Given the description of an element on the screen output the (x, y) to click on. 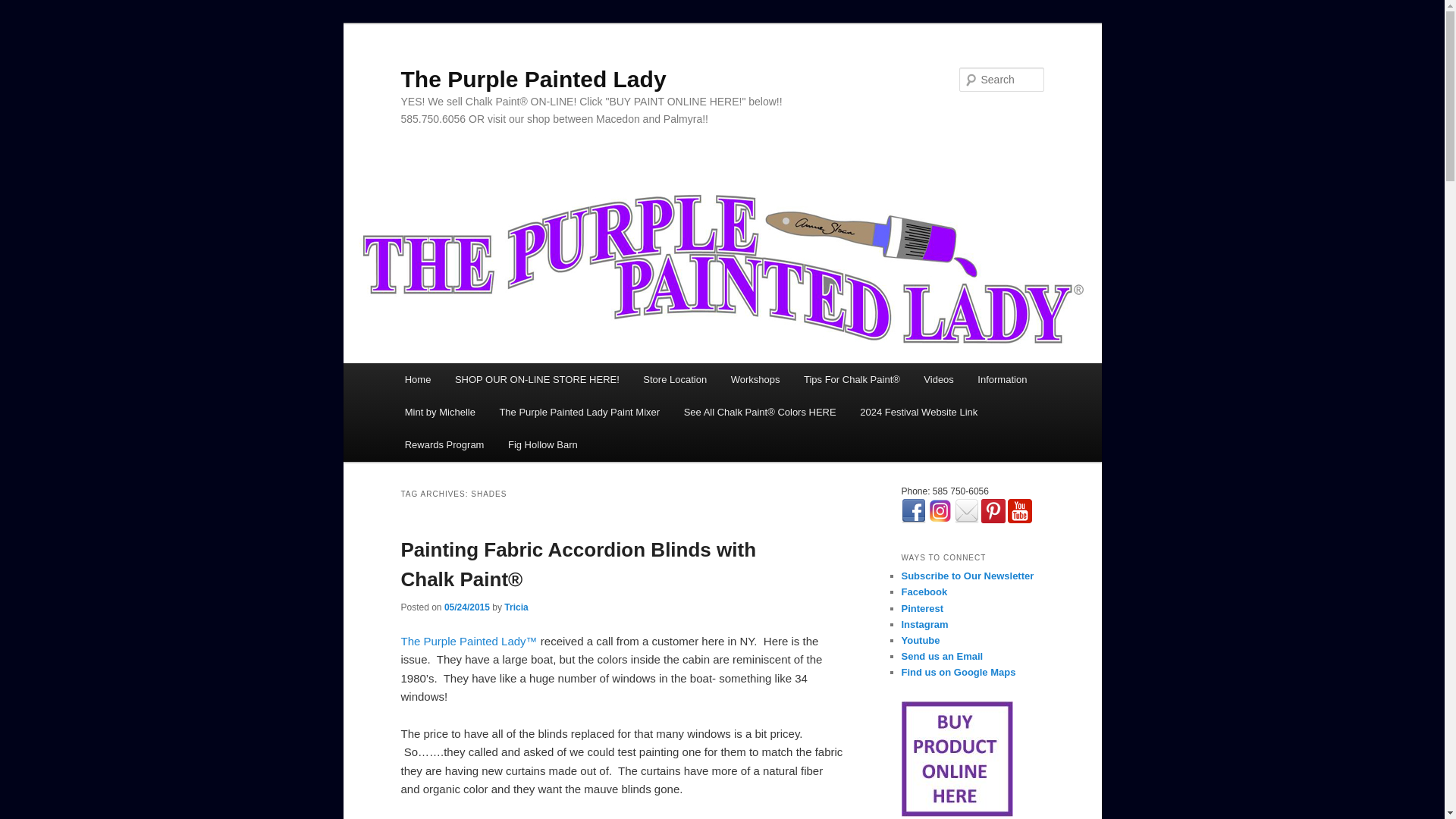
The Purple Painted Lady (532, 78)
Search (24, 8)
Email Me (965, 510)
SHOP OUR ON-LINE STORE HERE! (536, 379)
Home (417, 379)
12:42 PM (466, 606)
Pinterest (993, 510)
Shop Online (956, 759)
Instagram (940, 510)
